Given the description of an element on the screen output the (x, y) to click on. 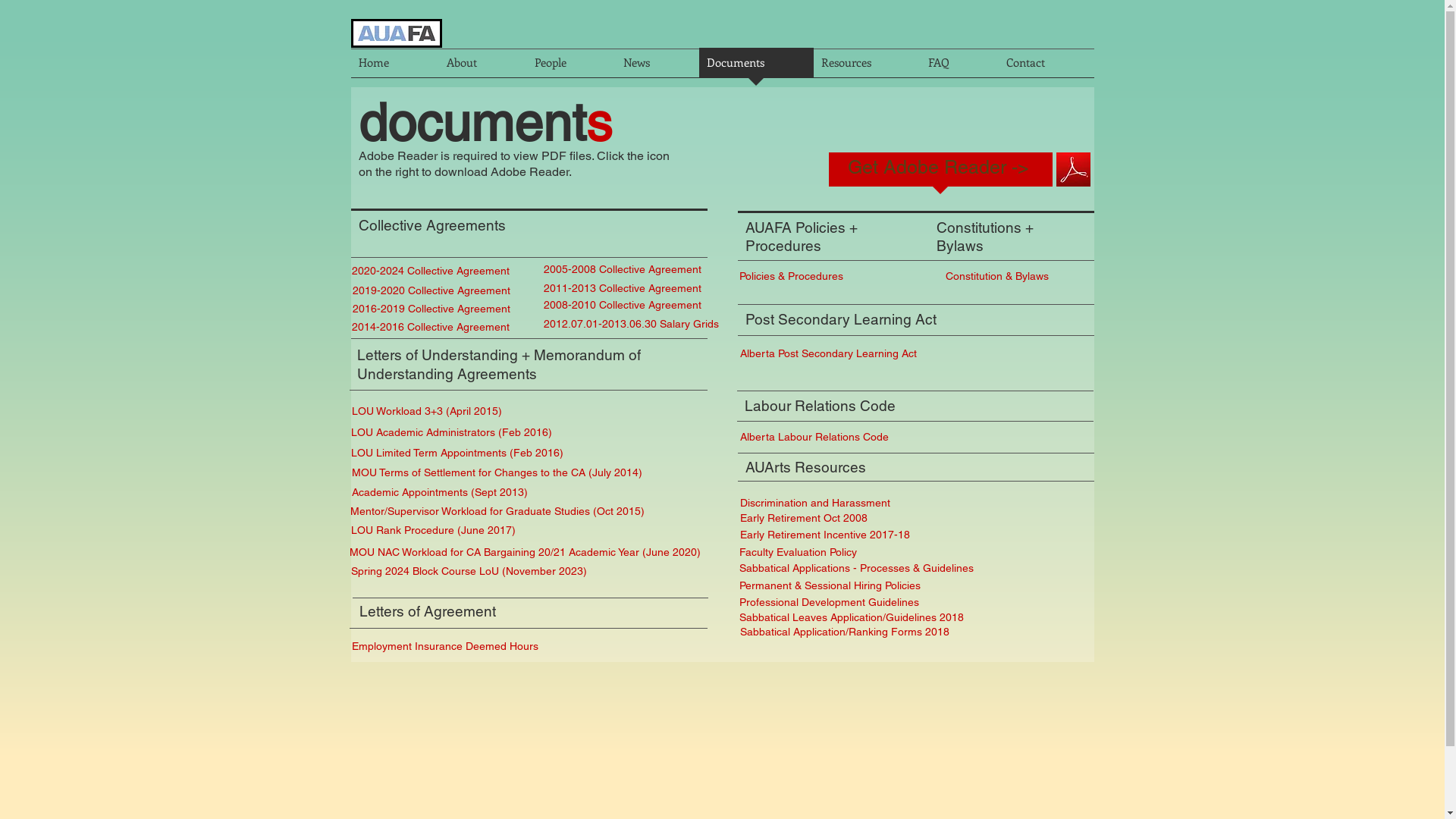
Resources Element type: text (865, 67)
Sabbatical Applications - Processes & Guidelines Element type: text (861, 568)
LOU Workload 3+3 (April 2015) Element type: text (427, 411)
Home Element type: text (394, 67)
Discrimination and Harassment Element type: text (868, 503)
Early Retirement Incentive 2017-18 Element type: text (826, 534)
Early Retirement Oct 2008 Element type: text (804, 518)
2012.07.01-2013.06.30 Salary Grids Element type: text (630, 323)
MOU Terms of Settlement for Changes to the CA (July 2014) Element type: text (497, 472)
2011-2013 Collective Agreement Element type: text (624, 287)
Documents Element type: text (756, 67)
2016-2019 Collective Agreement Element type: text (431, 308)
Sabbatical Leaves Application/Guidelines 2018 Element type: text (852, 617)
Faculty Evaluation Policy Element type: text (800, 552)
2008-2010 Collective Agreement Element type: text (624, 304)
Permanent & Sessional Hiring Policies Element type: text (852, 585)
Spring 2024 Block Course LoU (November 2023) Element type: text (527, 571)
Sabbatical Application/Ranking Forms 2018 Element type: text (854, 632)
Employment Insurance Deemed Hours Element type: text (447, 646)
Professional Development Guidelines Element type: text (833, 602)
About Element type: text (482, 67)
2005-2008 Collective Agreement Element type: text (624, 269)
2020-2024 Collective Agreement Element type: text (435, 269)
2014-2016 Collective Agreement Element type: text (435, 326)
Contact Element type: text (1045, 67)
Constitution & Bylaws Element type: text (999, 275)
LOU Academic Administrators (Feb 2016) Element type: text (463, 432)
Mentor/Supervisor Workload for Graduate Studies (Oct 2015) Element type: text (501, 511)
News Element type: text (657, 67)
FAQ Element type: text (959, 67)
Academic Appointments (Sept 2013) Element type: text (475, 492)
Alberta Post Secondary Learning Act Element type: text (829, 352)
People Element type: text (570, 67)
LOU Limited Term Appointments (Feb 2016) Element type: text (458, 453)
Alberta Labour Relations Code Element type: text (819, 436)
LOU Rank Procedure (June 2017) Element type: text (432, 530)
2019-2020 Collective Agreement Element type: text (431, 290)
